Given the description of an element on the screen output the (x, y) to click on. 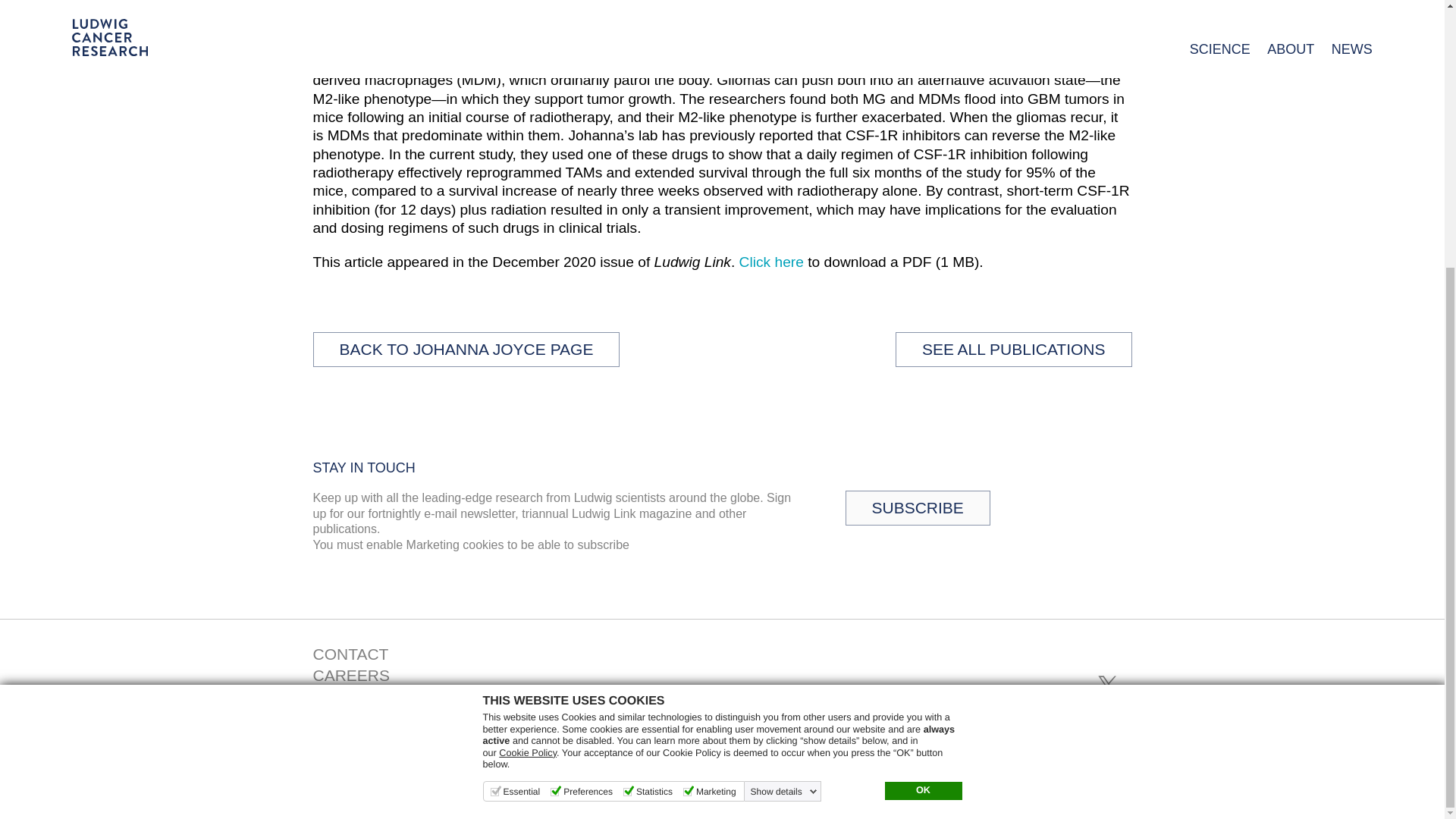
Cookie Policy (527, 363)
Cookie Policy (527, 363)
OK (921, 402)
Show details (784, 402)
